Given the description of an element on the screen output the (x, y) to click on. 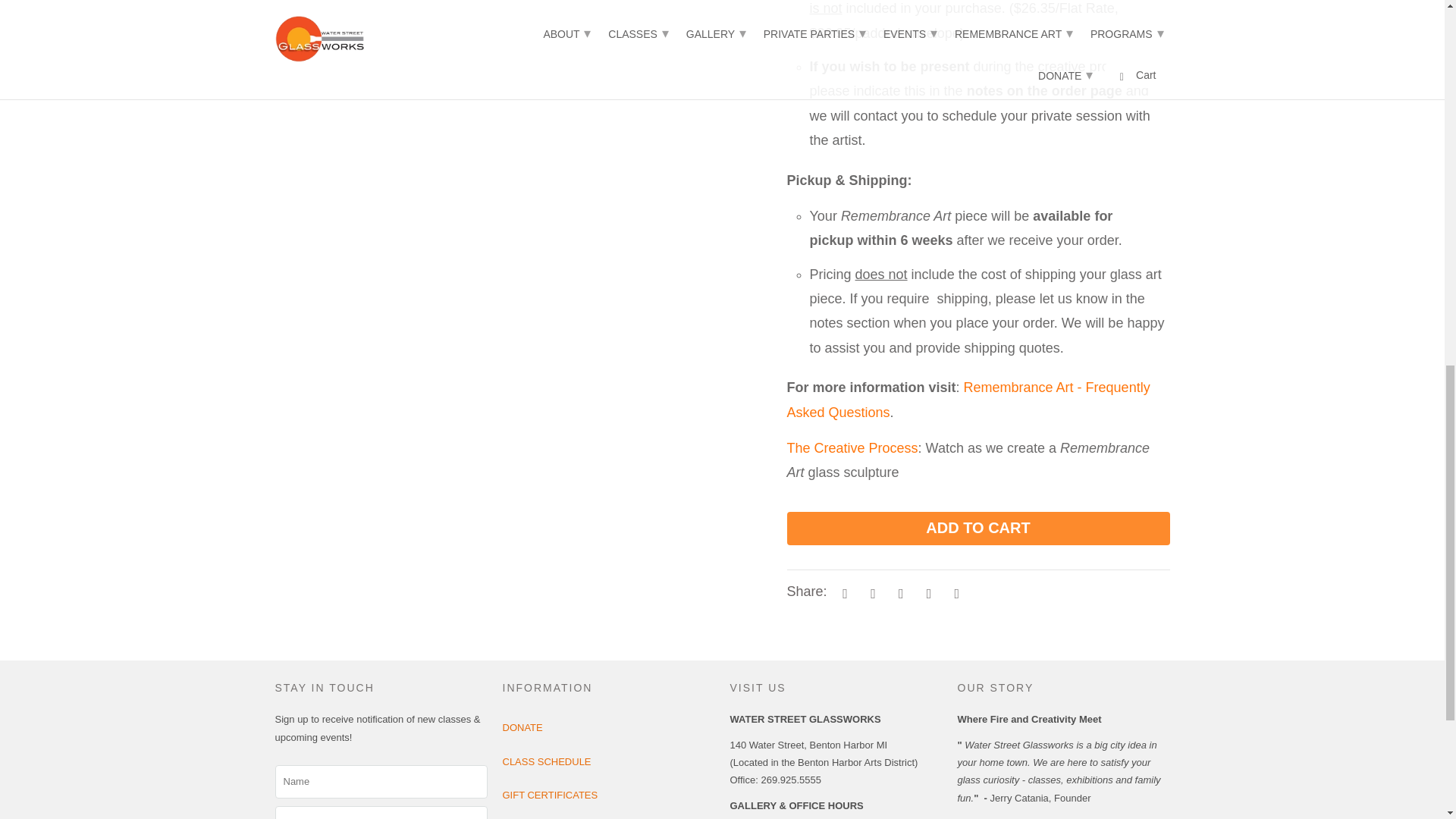
Email this to a friend (954, 592)
Share this on Facebook (870, 592)
Remembrance Art collection by Water Street Glassworks (852, 447)
Share this on Twitter (843, 592)
Share this on Pinterest (898, 592)
